Given the description of an element on the screen output the (x, y) to click on. 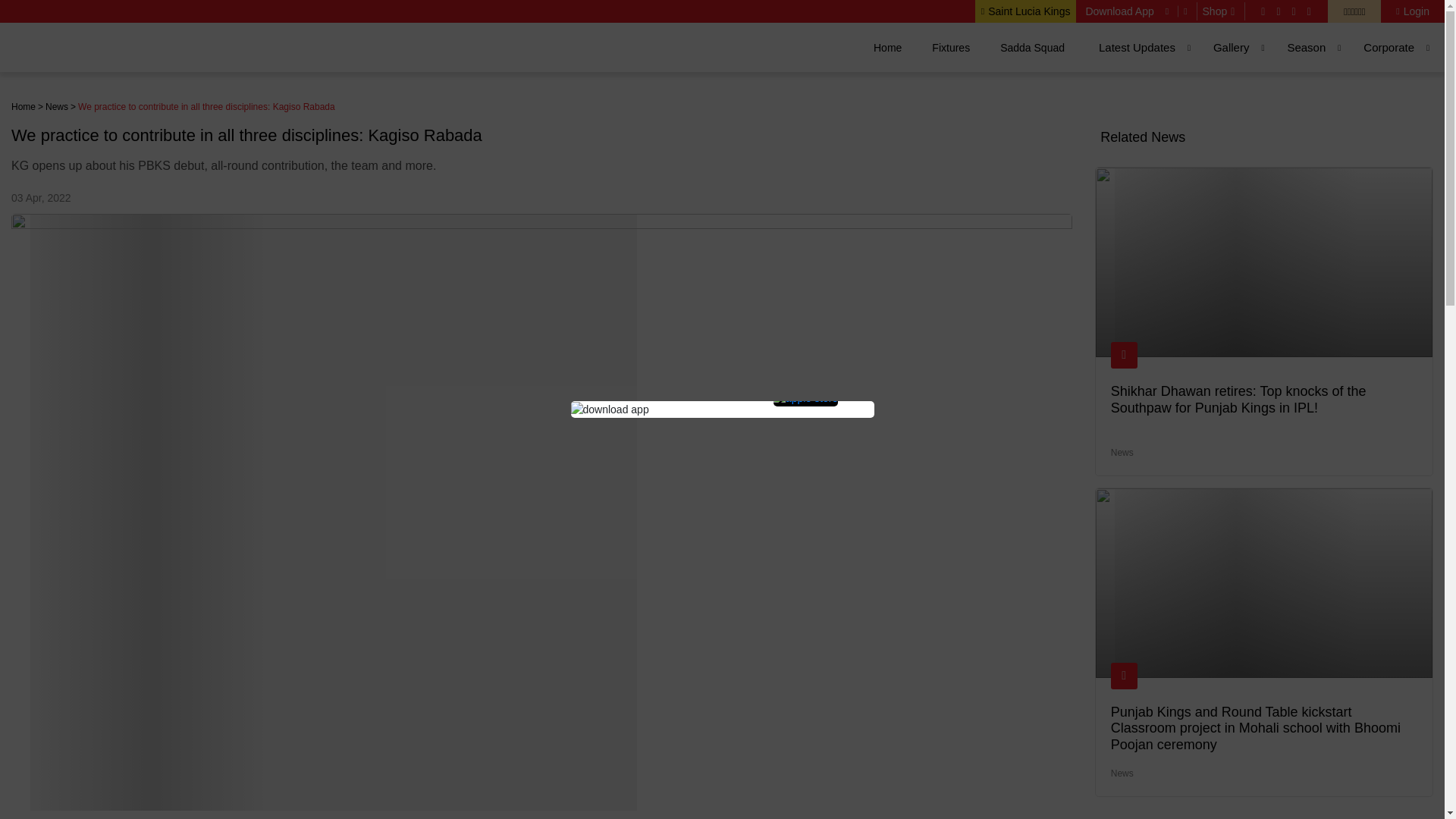
Latest Updates (1136, 47)
Corporate (1388, 47)
Sadda Squad (1032, 47)
Saint Lucia Kings (1025, 11)
Season (1305, 47)
Saint Lucia Kings (1025, 11)
Shop (1220, 11)
Home (22, 106)
Sadda Squad (1032, 47)
Shop (1220, 11)
